Given the description of an element on the screen output the (x, y) to click on. 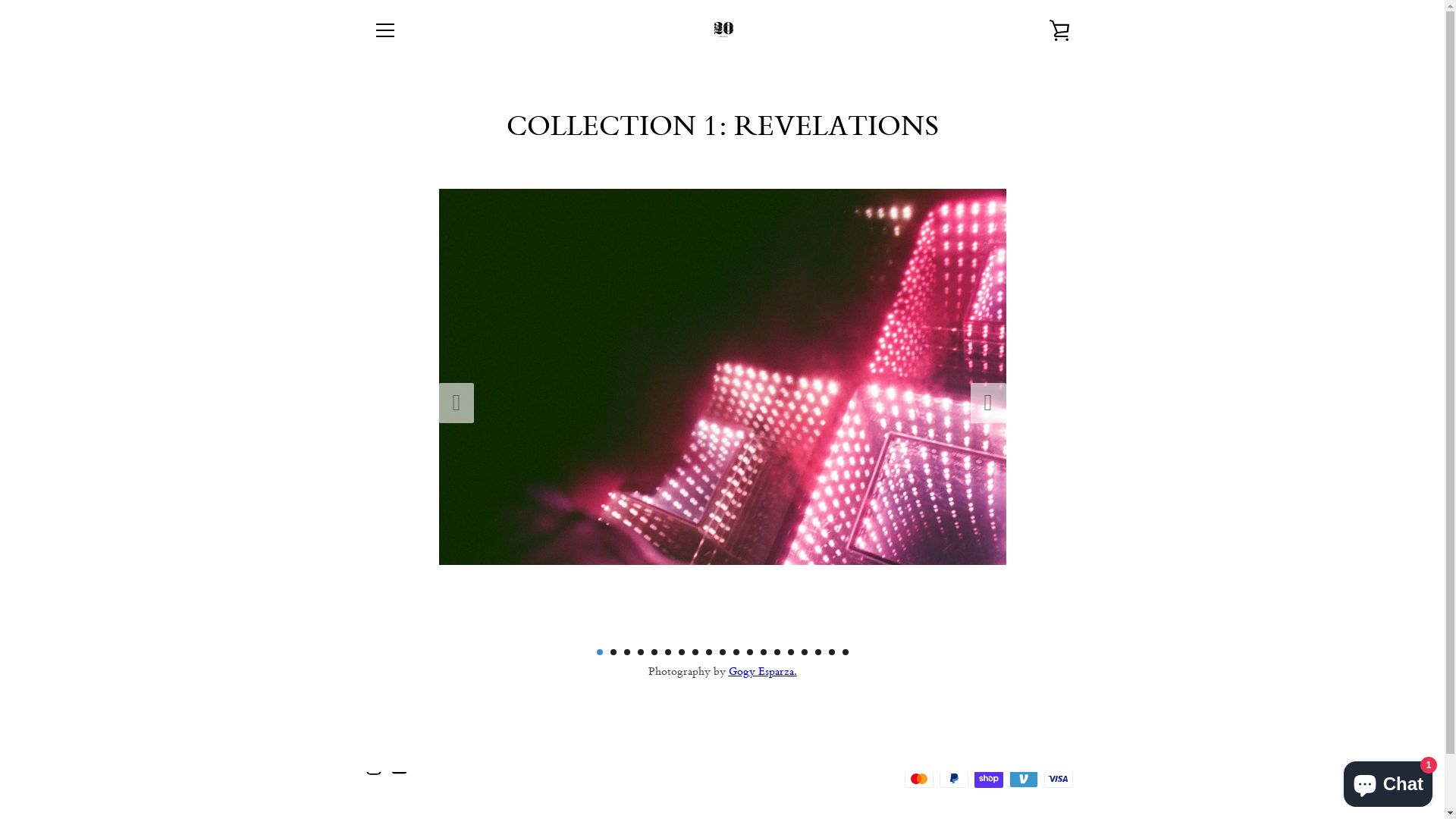
8 Element type: text (694, 652)
2 Element type: text (612, 652)
13 Element type: text (762, 652)
Powered by Shopify Element type: text (793, 766)
10 Element type: text (721, 652)
20/20 Collections Element type: text (718, 766)
5 Element type: text (653, 652)
Instagram Element type: text (372, 765)
7 Element type: text (680, 652)
4 Element type: text (640, 652)
3 Element type: text (626, 652)
YouTube Element type: text (398, 765)
17 Element type: text (817, 652)
14 Element type: text (776, 652)
1 Element type: text (599, 652)
Skip to content Element type: text (0, 0)
VIEW CART Element type: text (1059, 30)
Shopify online store chat Element type: hover (1388, 780)
11 Element type: text (735, 652)
6 Element type: text (667, 652)
18 Element type: text (831, 652)
MENU Element type: text (384, 30)
9 Element type: text (708, 652)
19 Element type: text (844, 652)
15 Element type: text (790, 652)
Gogy Esparza. Element type: text (762, 670)
12 Element type: text (749, 652)
16 Element type: text (803, 652)
